Given the description of an element on the screen output the (x, y) to click on. 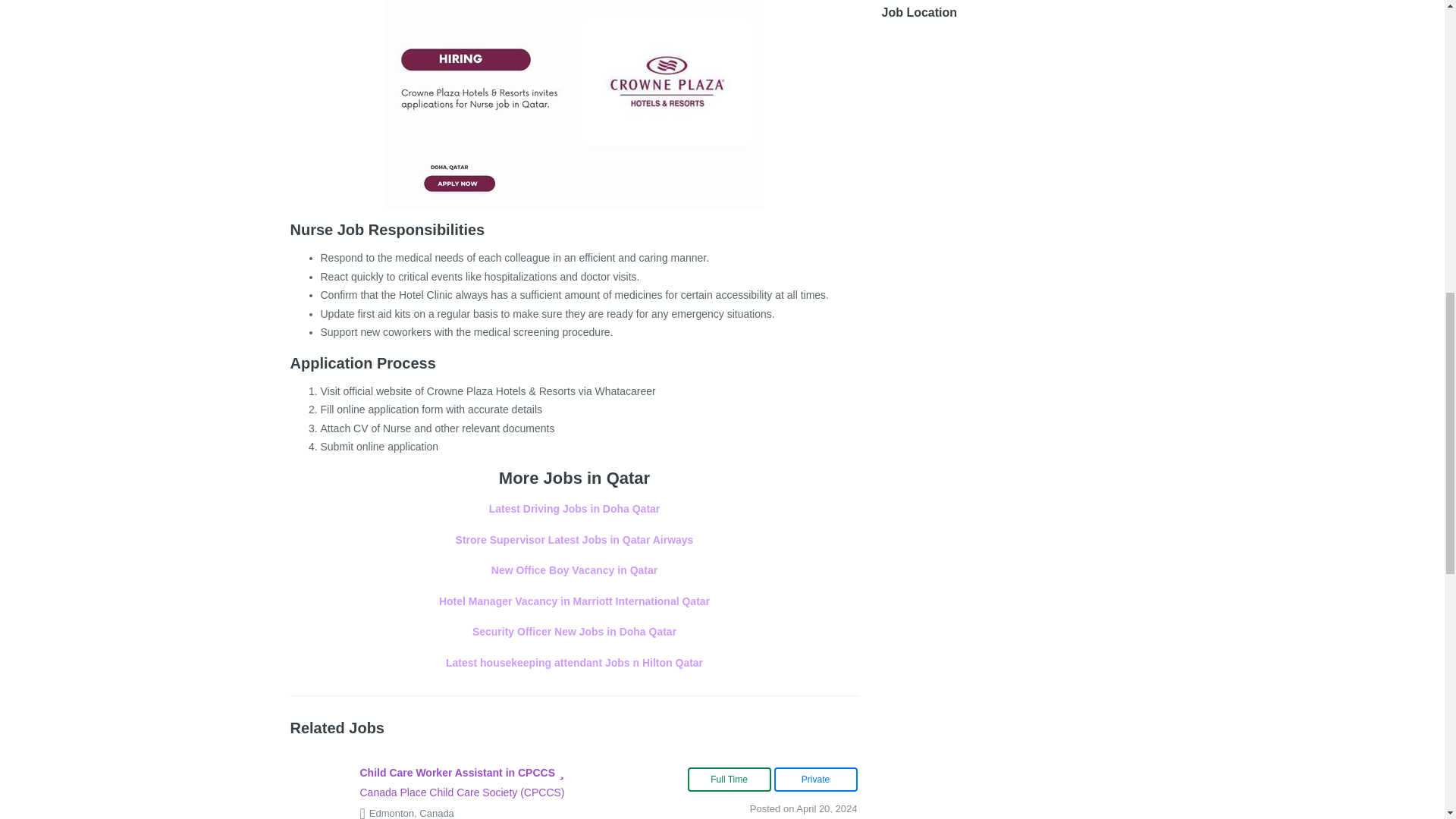
Security Officer New Jobs in Doha Qatar (574, 631)
New Office Boy Vacancy in Qatar (575, 570)
Hotel Manager Vacancy in Marriott International Qatar (574, 601)
Latest Driving Jobs in Doha Qatar (575, 508)
Latest housekeeping attendant Jobs n Hilton Qatar (574, 662)
Strore Supervisor Latest Jobs in Qatar Airways (574, 539)
